Given the description of an element on the screen output the (x, y) to click on. 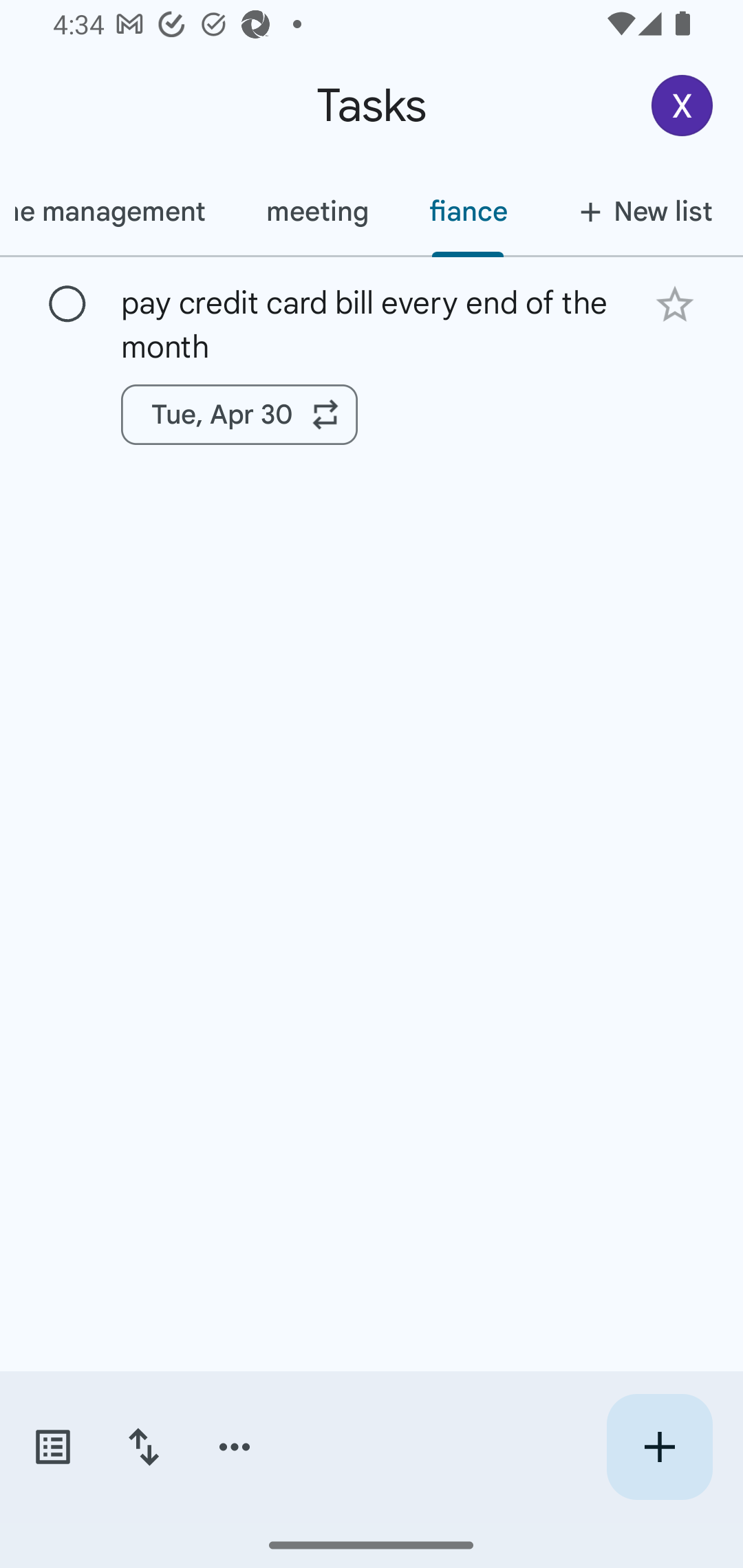
home management (117, 211)
meeting (316, 211)
New list (640, 211)
Add star (674, 303)
Mark as complete (67, 304)
Tue, Apr 30 (239, 414)
Switch task lists (52, 1447)
Create new task (659, 1446)
Change sort order (143, 1446)
More options (234, 1446)
